Given the description of an element on the screen output the (x, y) to click on. 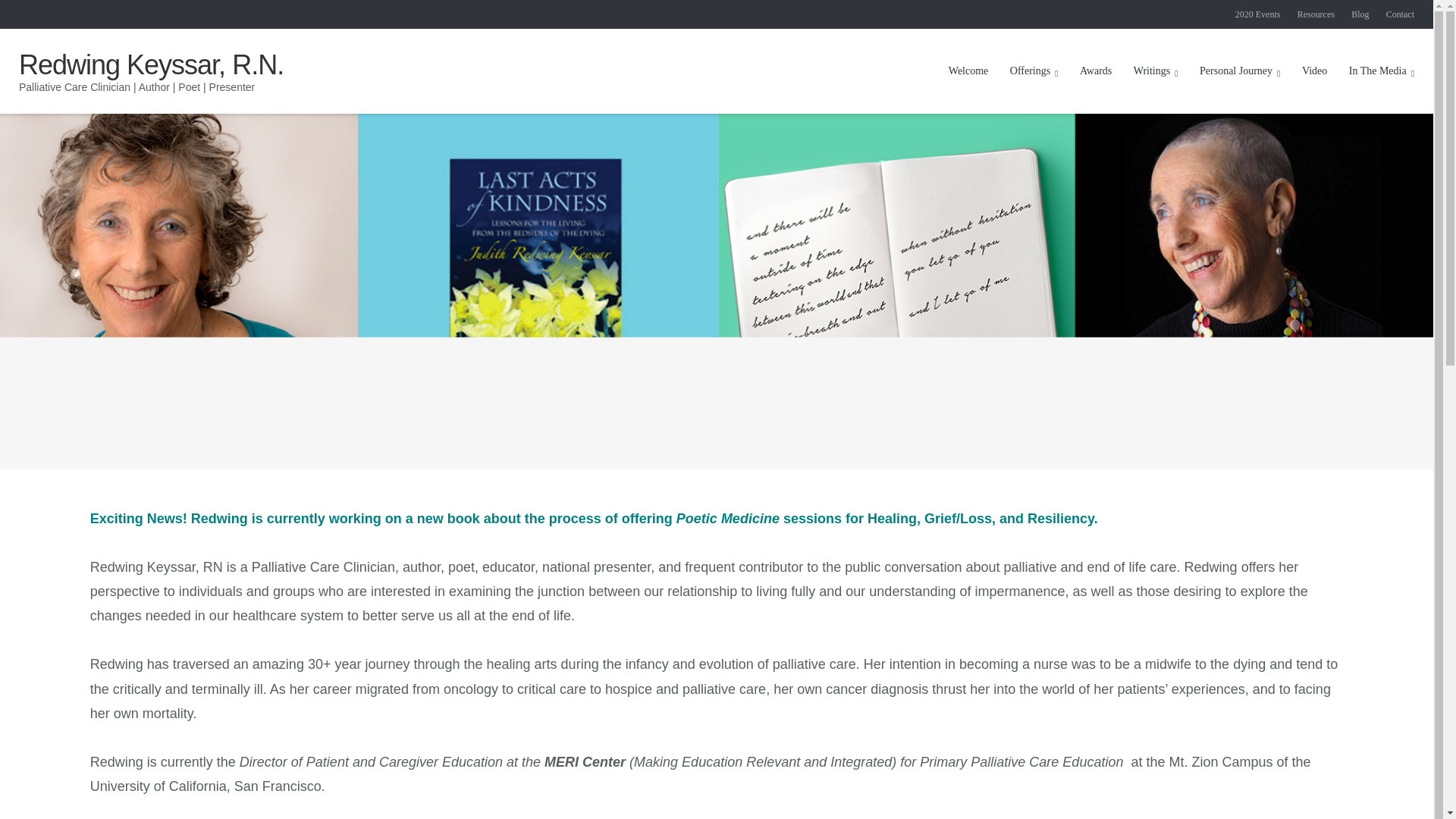
Personal Journey (1239, 70)
Contact (1399, 14)
Resources (1316, 14)
Redwing Keyssar, R.N. (150, 65)
2020 Events (1257, 14)
